Given the description of an element on the screen output the (x, y) to click on. 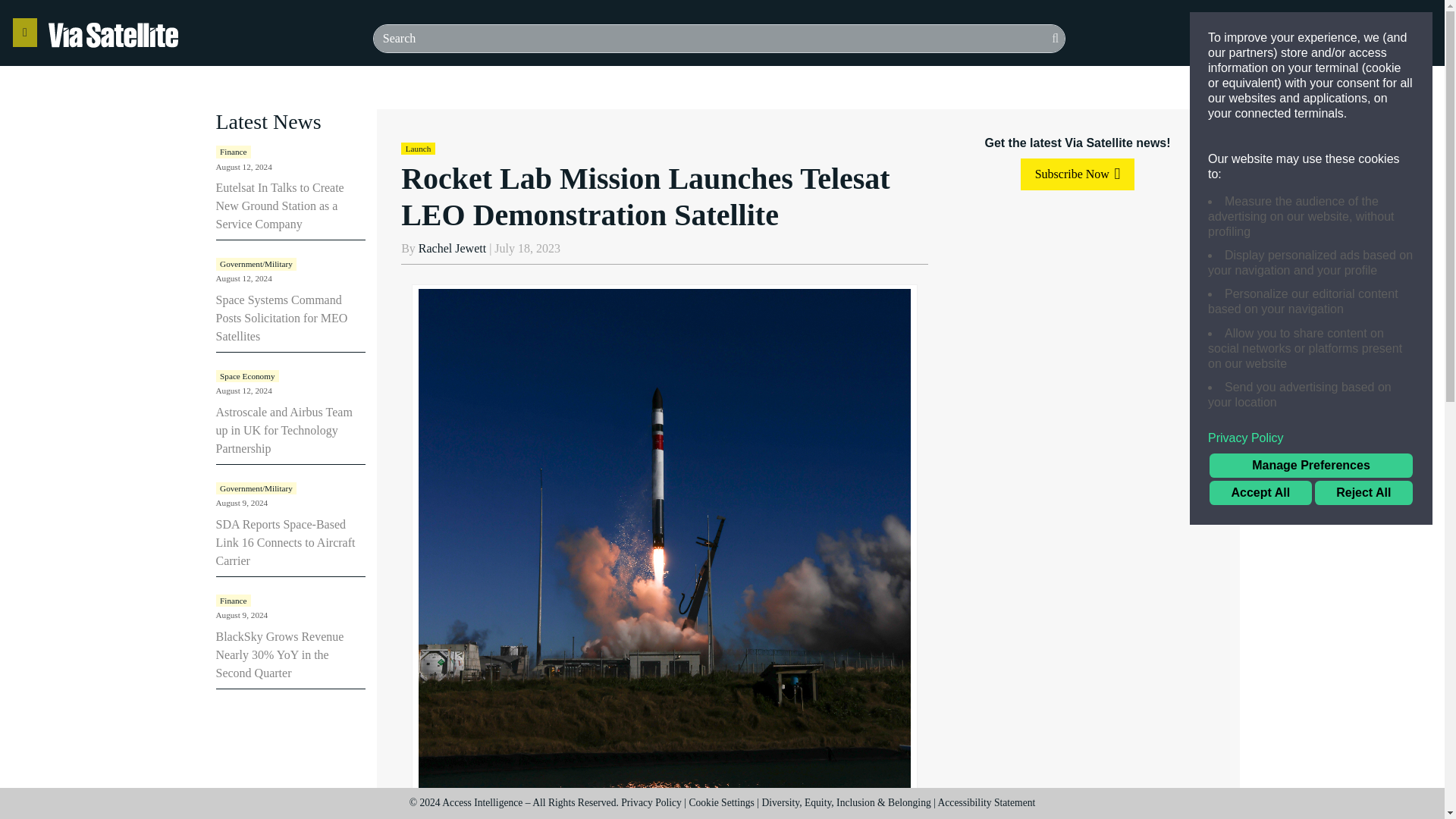
Subscribe for Free (1376, 33)
Space Systems Command Posts Solicitation for MEO Satellites (281, 318)
Reject All (1363, 492)
SDA Reports Space-Based Link 16 Connects to Aircraft Carrier (285, 542)
Finance (232, 151)
Finance (232, 600)
Privacy Policy (1310, 437)
Accept All (1260, 492)
Space Economy (247, 376)
